Given the description of an element on the screen output the (x, y) to click on. 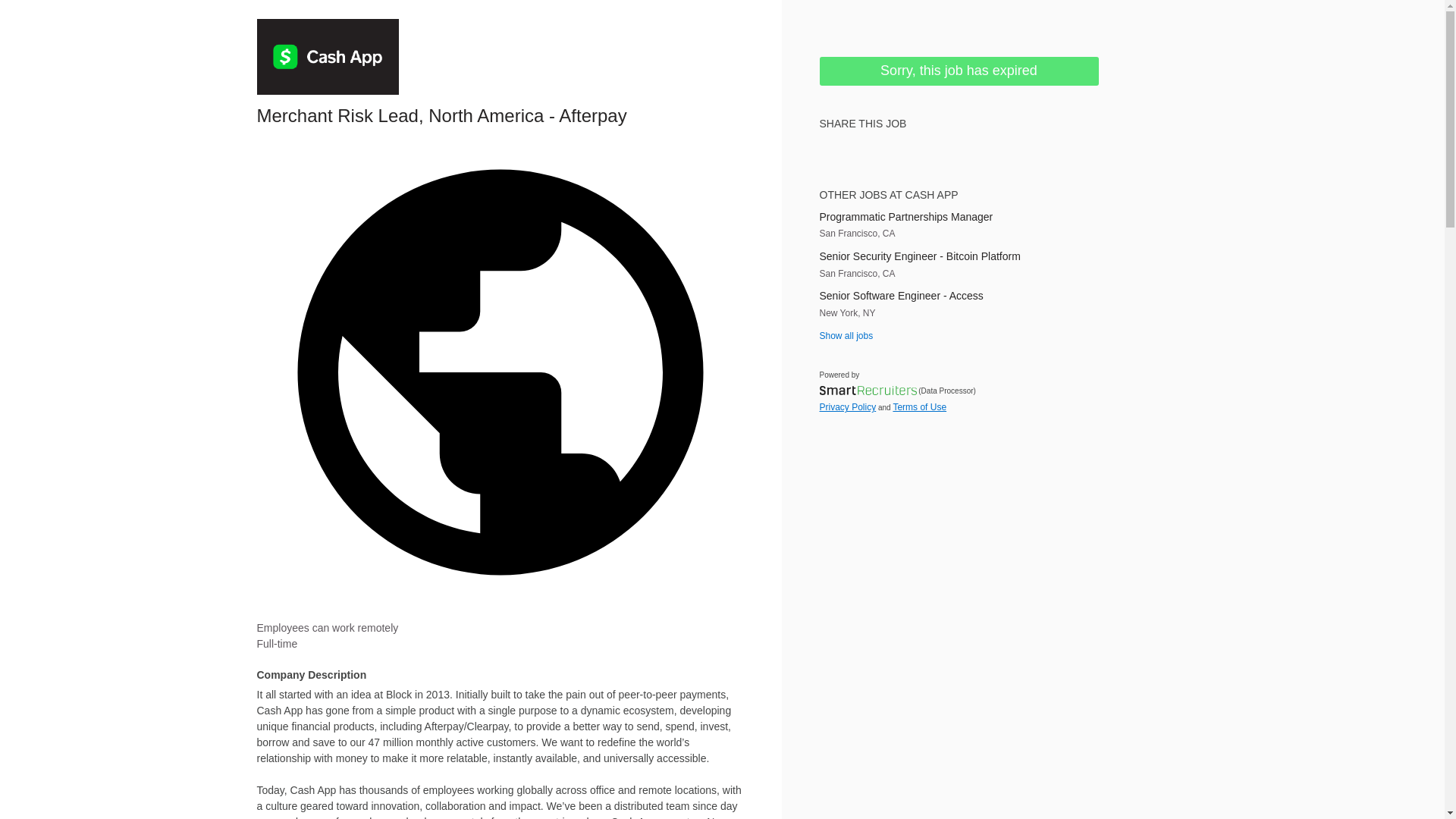
Programmatic Partnerships Manager (957, 216)
Sorry, this job has expired (957, 70)
Senior Software Engineer - Access (957, 295)
Programmatic Partnerships Manager (957, 216)
Cash App (327, 56)
Privacy Policy (847, 407)
Show all jobs (845, 335)
SmartRecruiters (866, 390)
Senior Security Engineer - Bitcoin Platform (957, 256)
Senior Security Engineer - Bitcoin Platform (957, 256)
Terms of Use (919, 407)
Senior Software Engineer - Access (957, 295)
